Given the description of an element on the screen output the (x, y) to click on. 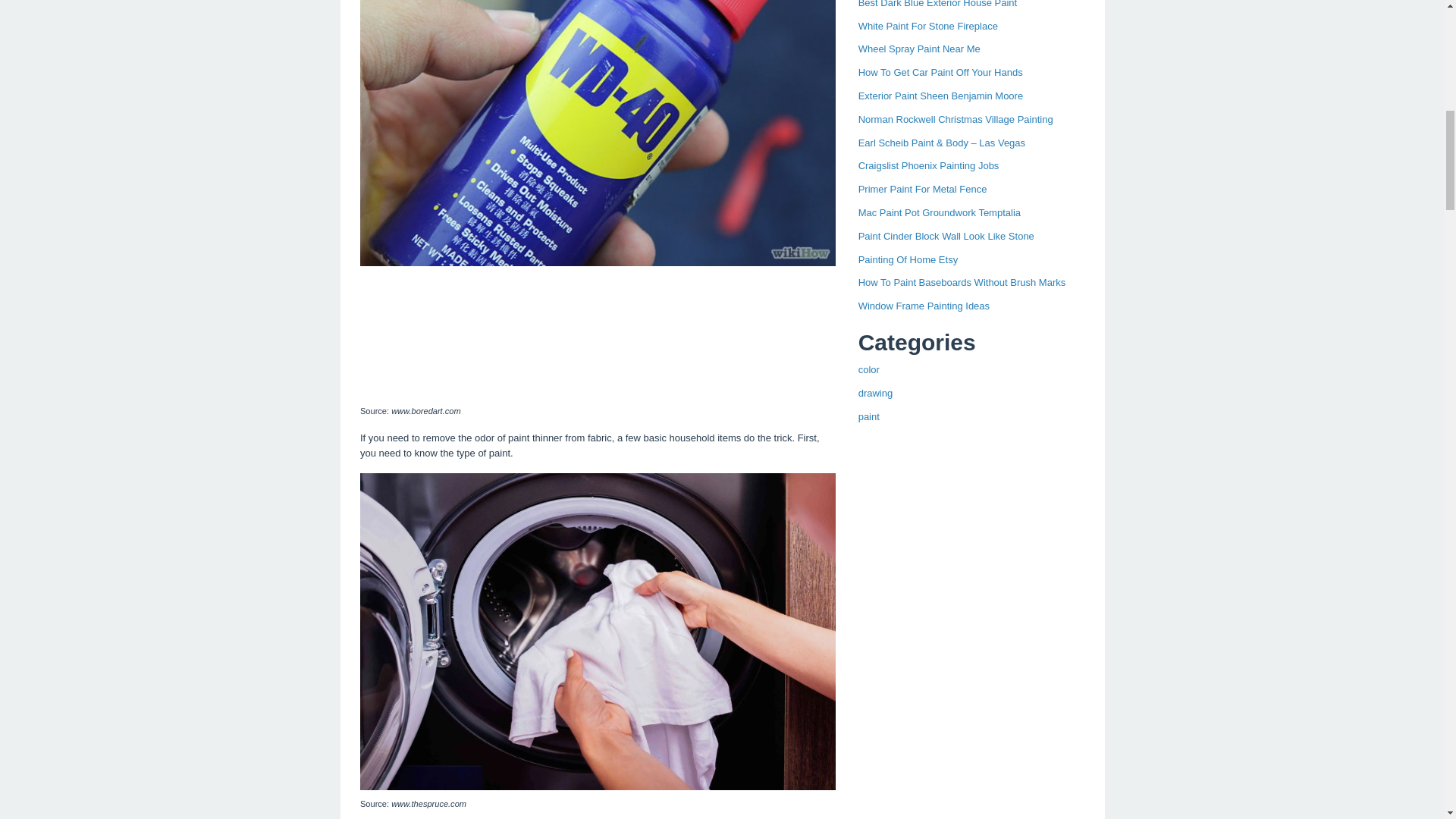
Primer Paint For Metal Fence (923, 188)
Mac Paint Pot Groundwork Temptalia (939, 212)
Exterior Paint Sheen Benjamin Moore (941, 95)
White Paint For Stone Fireplace (928, 25)
Norman Rockwell Christmas Village Painting (955, 119)
Best Dark Blue Exterior House Paint (938, 4)
Wheel Spray Paint Near Me (919, 48)
Craigslist Phoenix Painting Jobs (928, 165)
How To Get Car Paint Off Your Hands (941, 71)
Paint Cinder Block Wall Look Like Stone (946, 235)
